Given the description of an element on the screen output the (x, y) to click on. 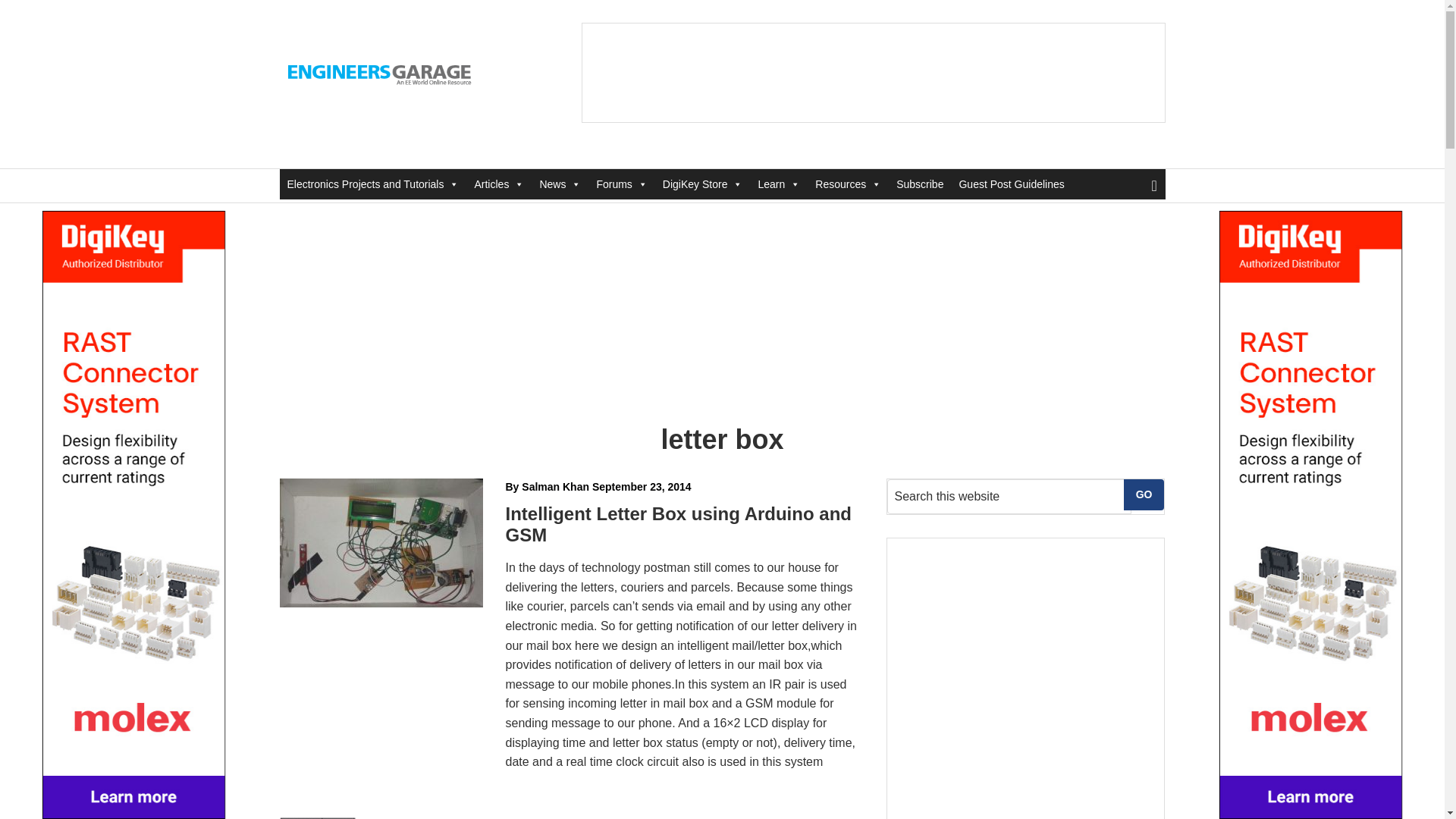
News (559, 183)
Engineers Garage (380, 72)
Electronics Projects and Tutorials (372, 183)
3rd party ad content (873, 72)
GO (1144, 494)
GO (1144, 494)
Articles (498, 183)
